Given the description of an element on the screen output the (x, y) to click on. 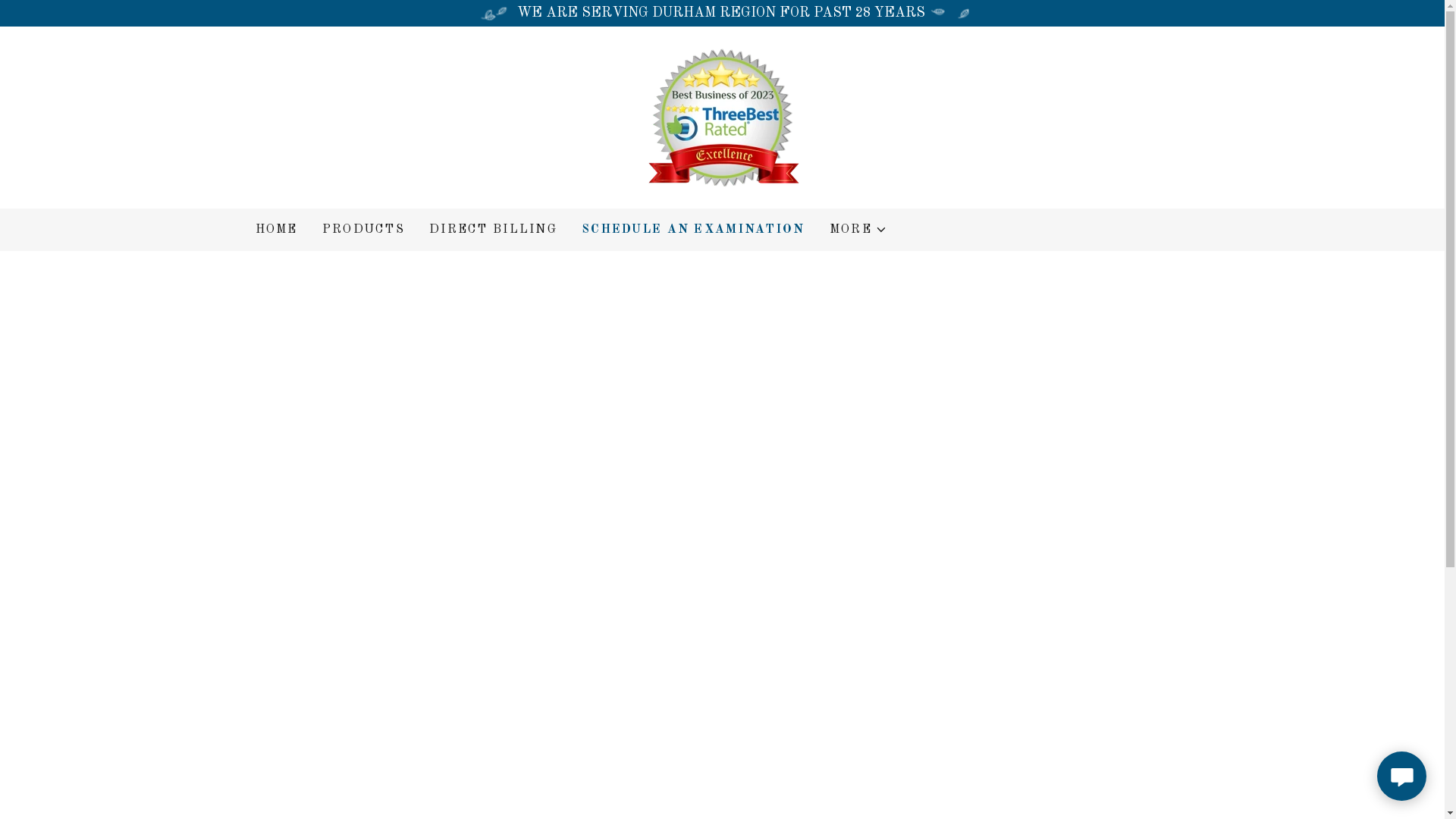
HOME Element type: text (275, 229)
SCHEDULE AN EXAMINATION Element type: text (693, 229)
PRODUCTS Element type: text (363, 229)
Ace Optical Element type: hover (721, 116)
MORE Element type: text (858, 229)
DIRECT BILLING Element type: text (492, 229)
